Given the description of an element on the screen output the (x, y) to click on. 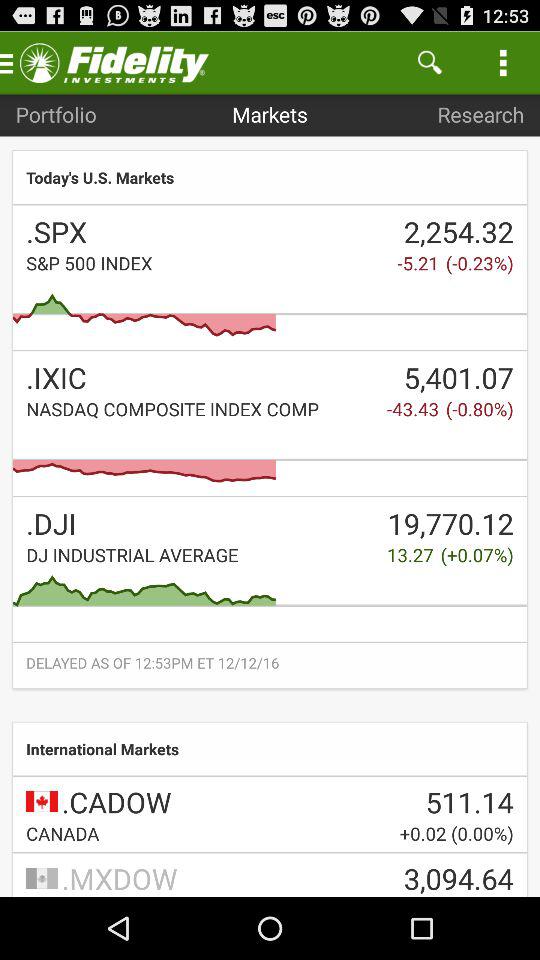
tap the icon above research icon (429, 62)
